Given the description of an element on the screen output the (x, y) to click on. 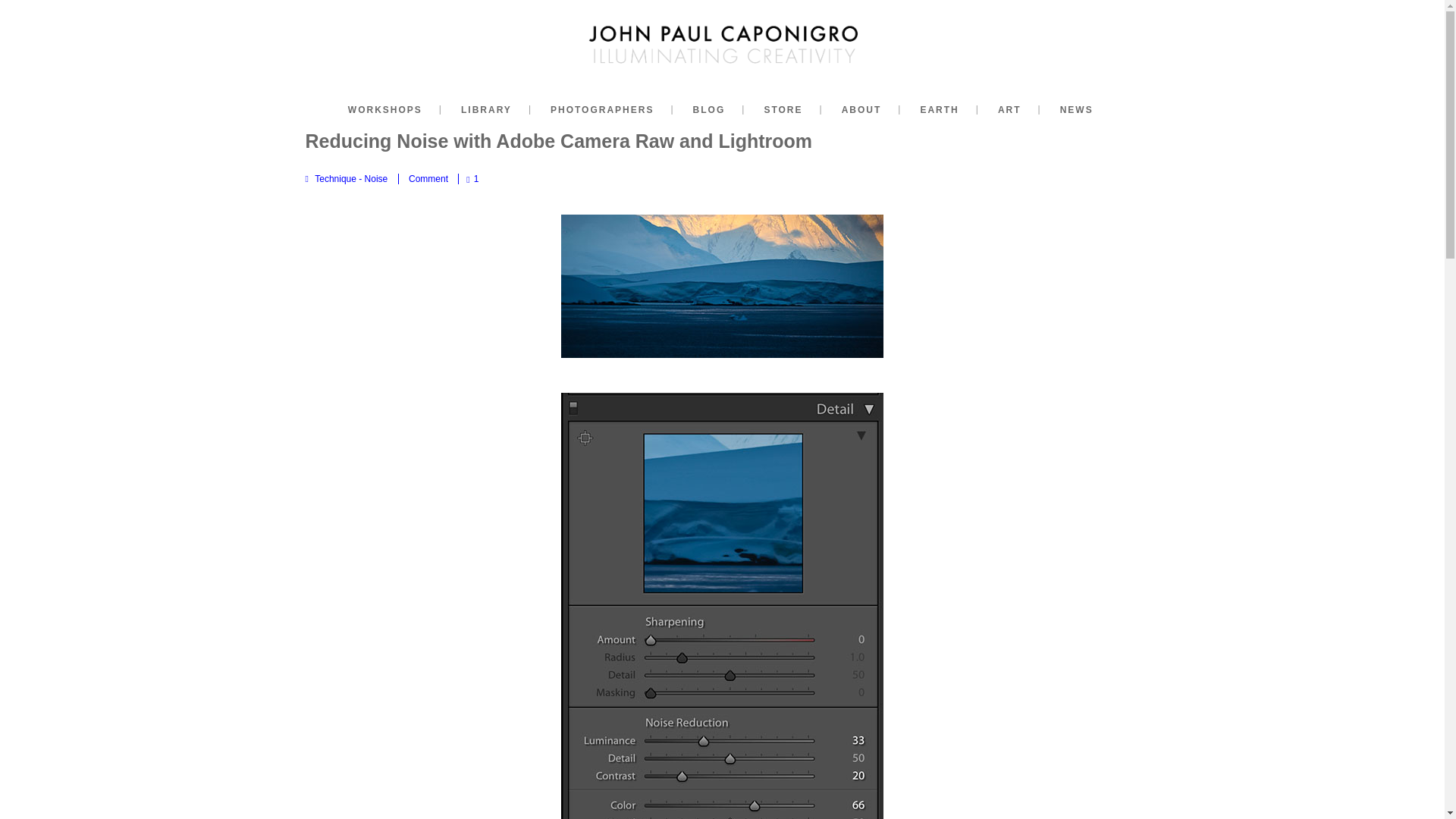
BLOG (709, 109)
WORKSHOPS (385, 109)
Like this (472, 178)
PHOTOGRAPHERS (601, 109)
LIBRARY (485, 109)
Reducing Noise with Adobe Camera Raw and Lightroom (558, 140)
